Given the description of an element on the screen output the (x, y) to click on. 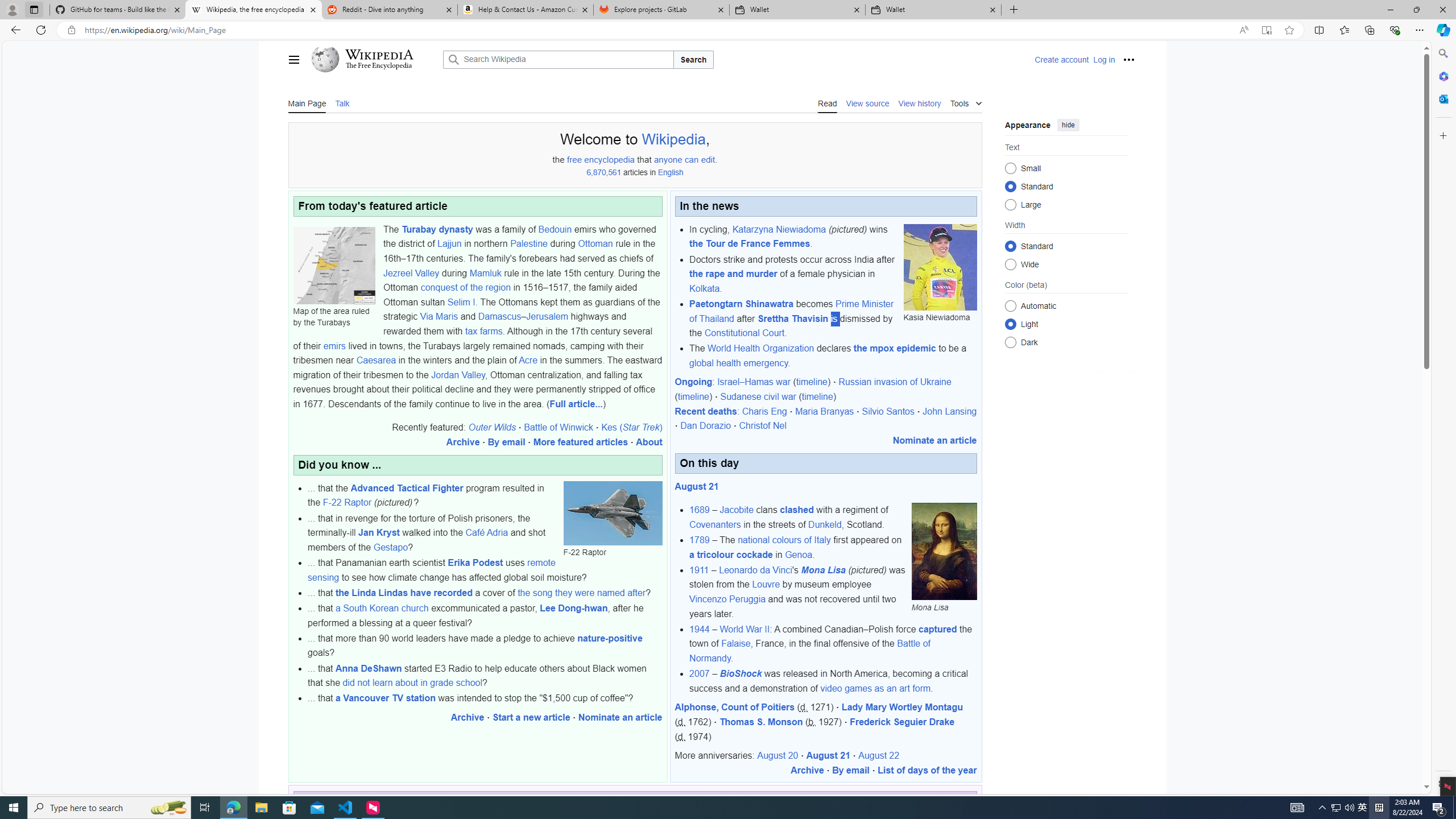
Log in (1104, 58)
Wallet (933, 9)
Katarzyna Niewiadoma (779, 229)
Genoa (798, 554)
John Lansing (949, 411)
August 20 (777, 755)
List of days of the year (926, 769)
Anna DeShawn (367, 668)
F-22 Raptor (612, 512)
View source (867, 102)
